Given the description of an element on the screen output the (x, y) to click on. 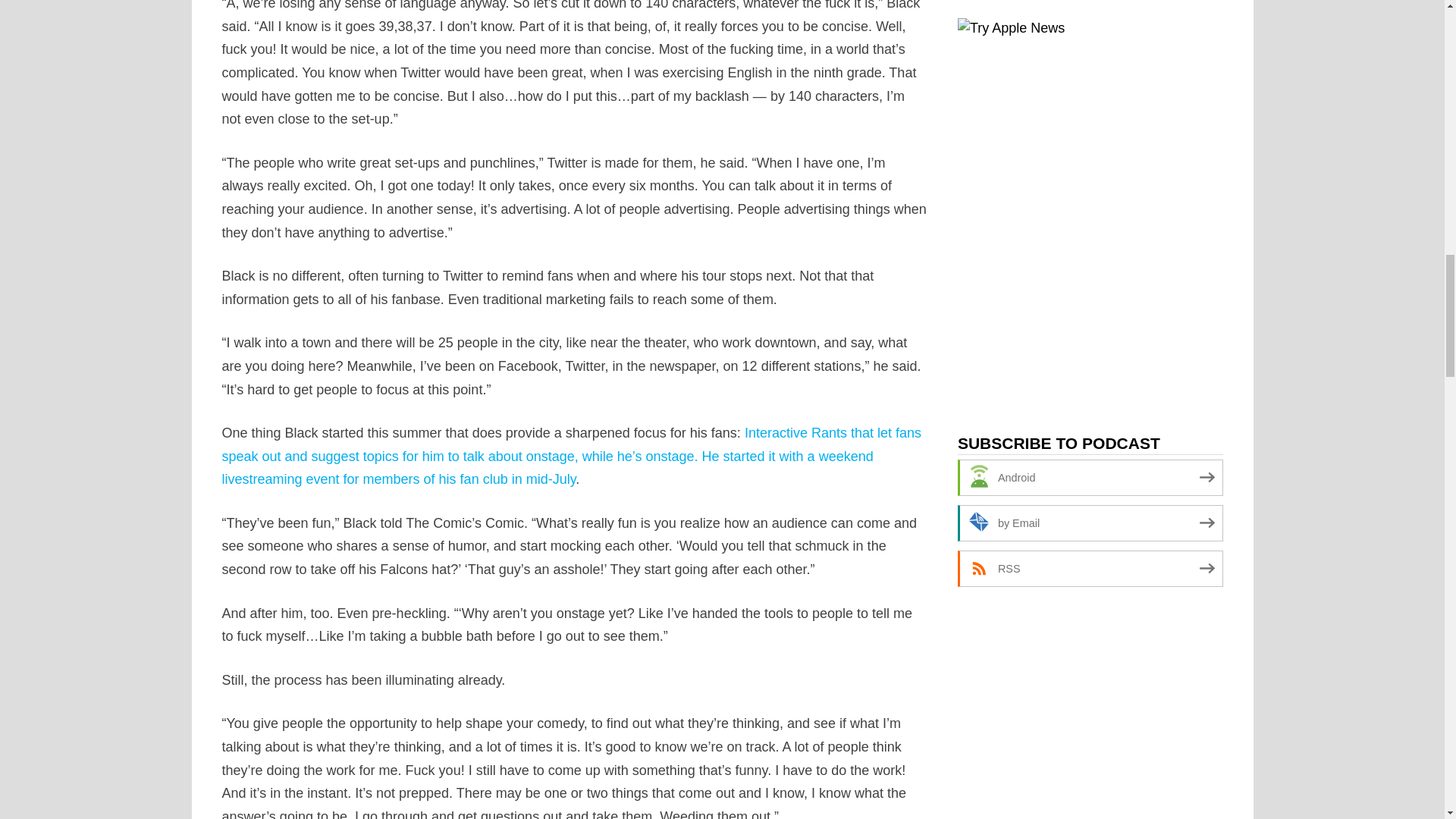
Subscribe on Android (1090, 477)
Subscribe by Email (1090, 523)
Subscribe via RSS (1090, 568)
